Given the description of an element on the screen output the (x, y) to click on. 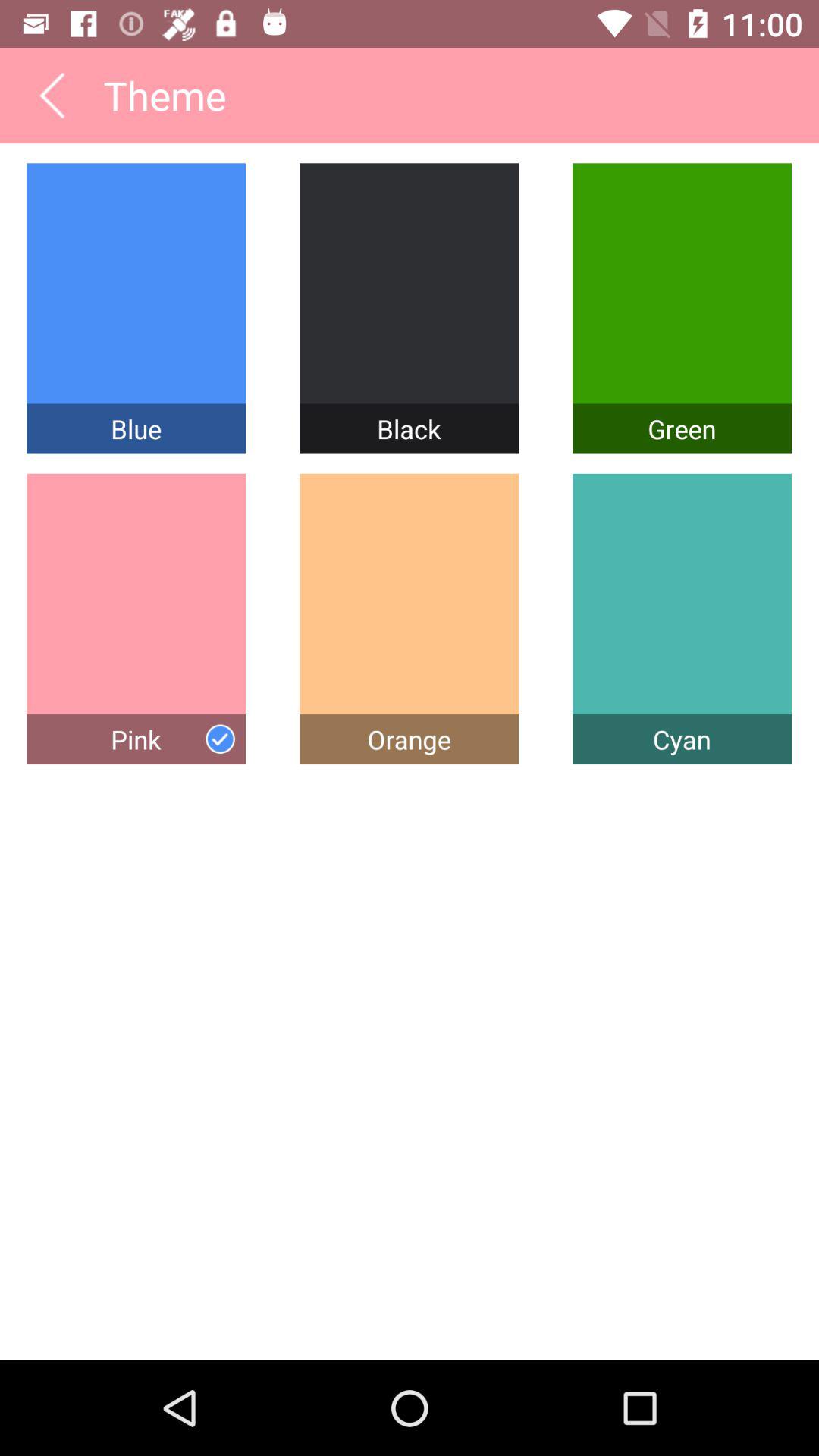
return to menu (51, 95)
